Given the description of an element on the screen output the (x, y) to click on. 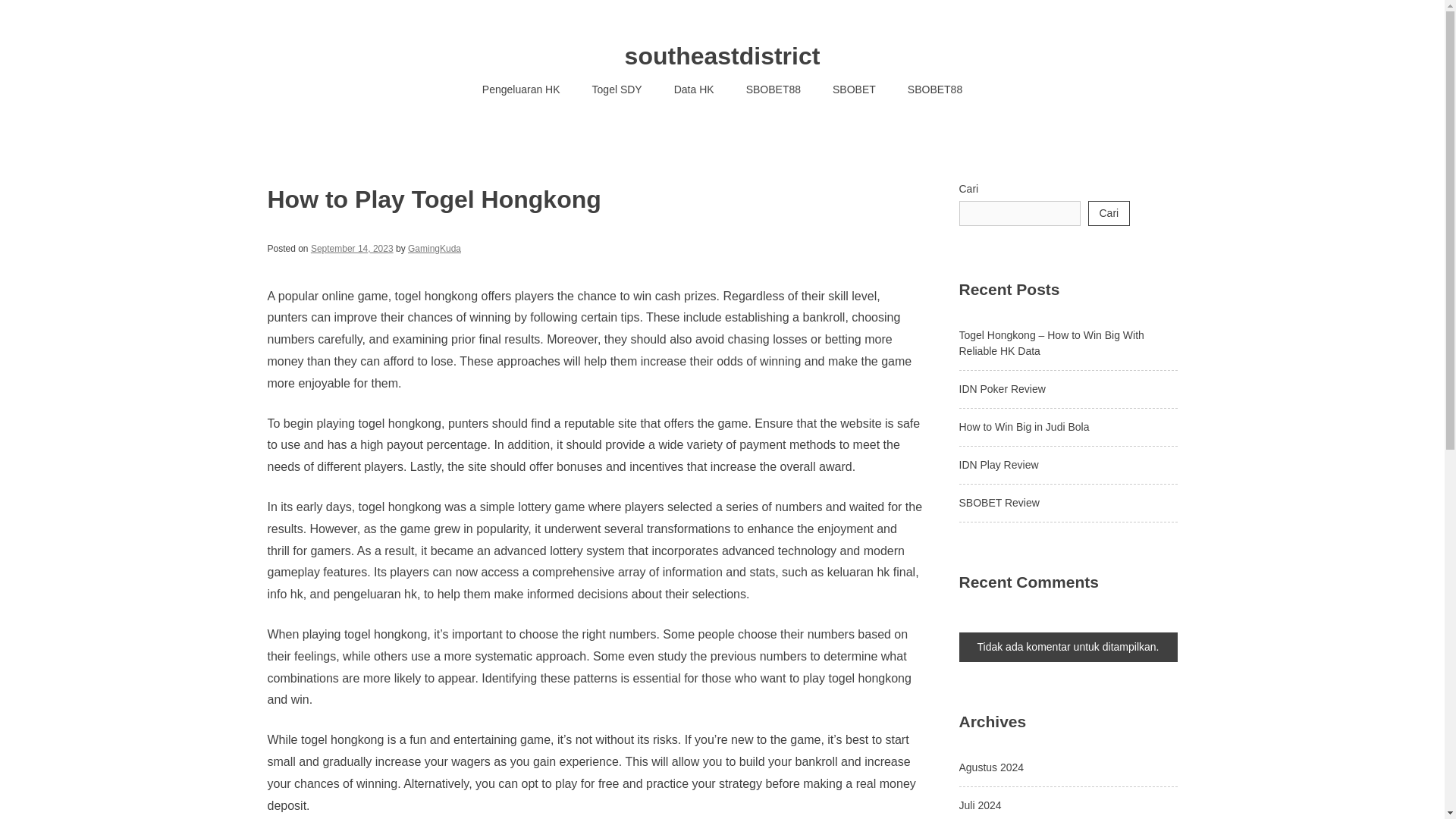
SBOBET88 (773, 89)
SBOBET (853, 89)
southeastdistrict (722, 55)
GamingKuda (434, 248)
SBOBET Review (998, 502)
IDN Play Review (998, 464)
How to Win Big in Judi Bola (1023, 426)
SBOBET88 (934, 89)
Pengeluaran HK (520, 89)
Cari (1108, 213)
